Given the description of an element on the screen output the (x, y) to click on. 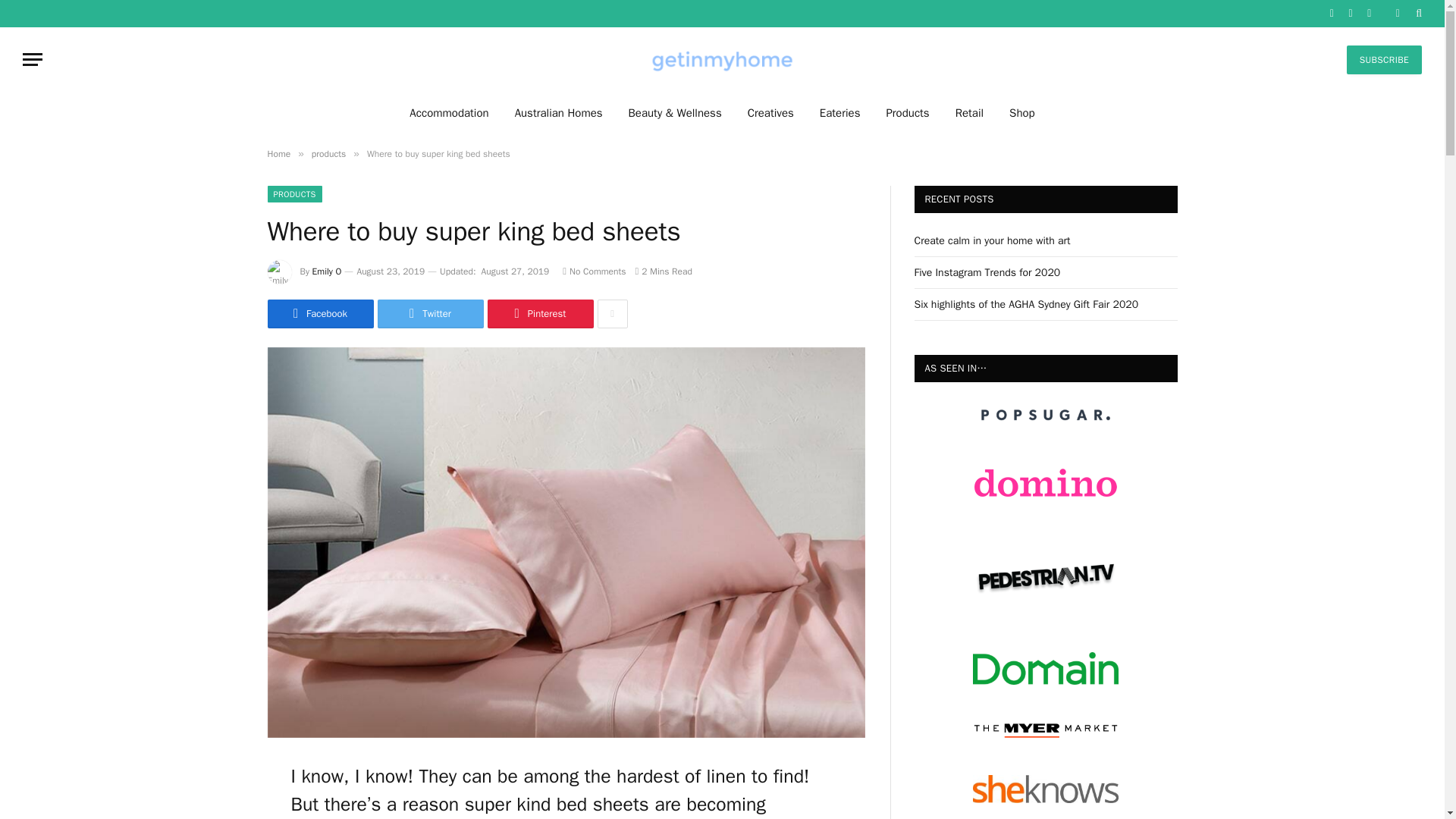
Share on Pinterest (539, 313)
Creatives (770, 112)
PRODUCTS (293, 193)
Posts by Emily O (327, 271)
products (328, 153)
Switch to Dark Design - easier on eyes. (1397, 13)
Australian Homes (558, 112)
Share on Facebook (319, 313)
Emily O (327, 271)
No Comments (594, 271)
Accommodation (448, 112)
SUBSCRIBE (1384, 59)
Facebook (319, 313)
Twitter (430, 313)
Pinterest (539, 313)
